Given the description of an element on the screen output the (x, y) to click on. 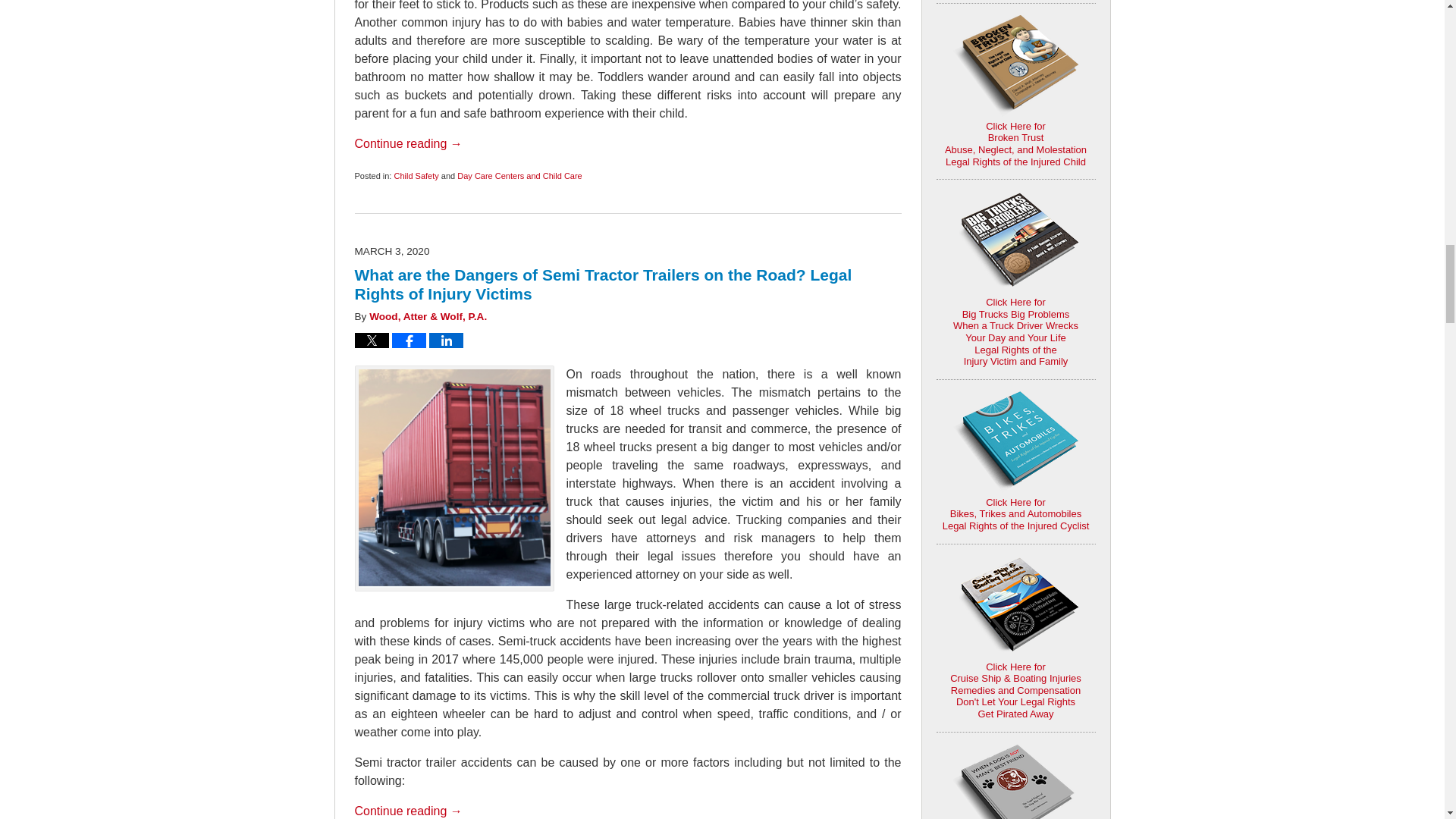
View all posts in Day Care Centers and Child Care (518, 175)
View all posts in Child Safety (415, 175)
